Given the description of an element on the screen output the (x, y) to click on. 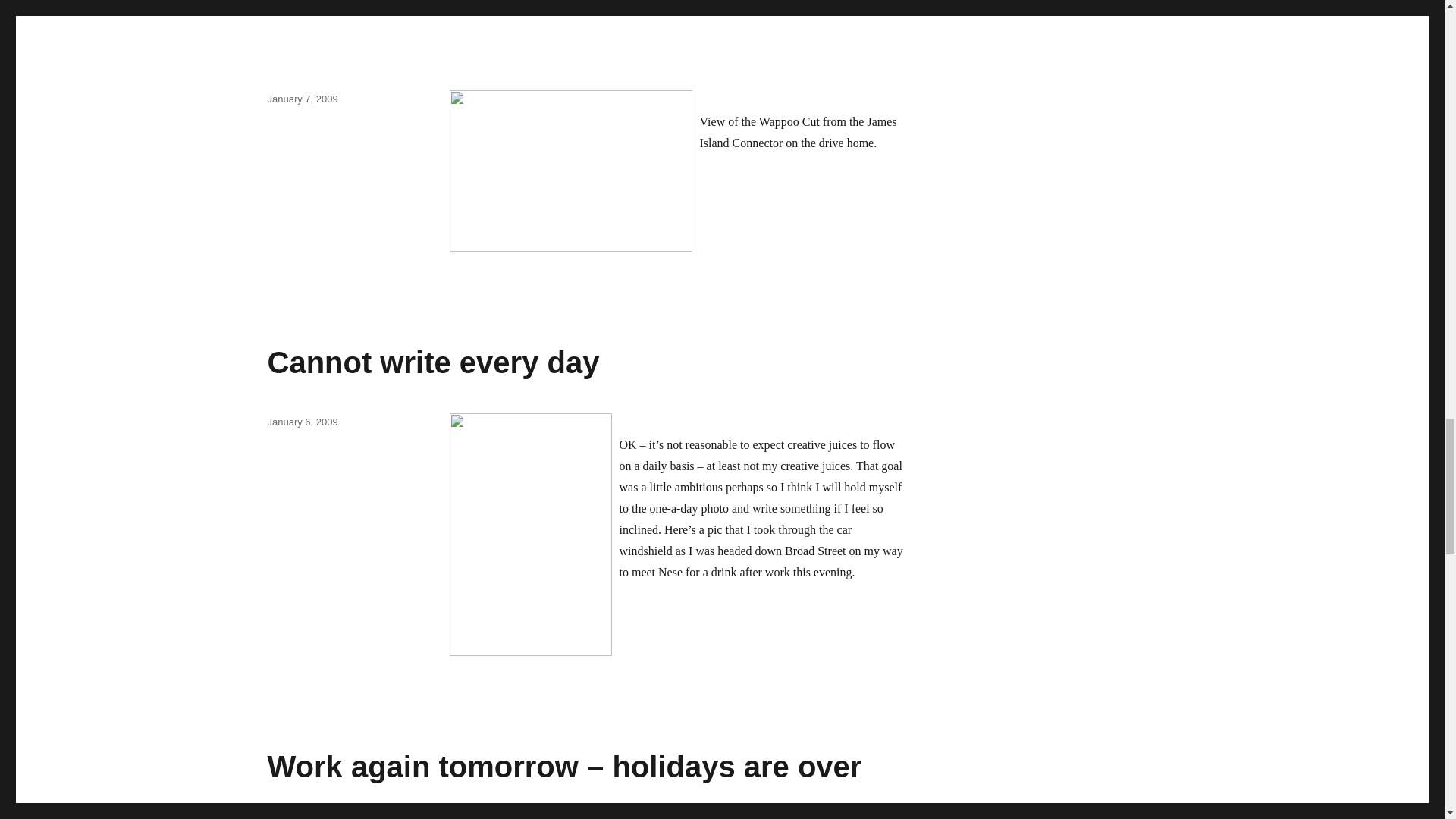
January 6, 2009 (301, 421)
January 7, 2009 (301, 98)
Cannot write every day (432, 362)
